Given the description of an element on the screen output the (x, y) to click on. 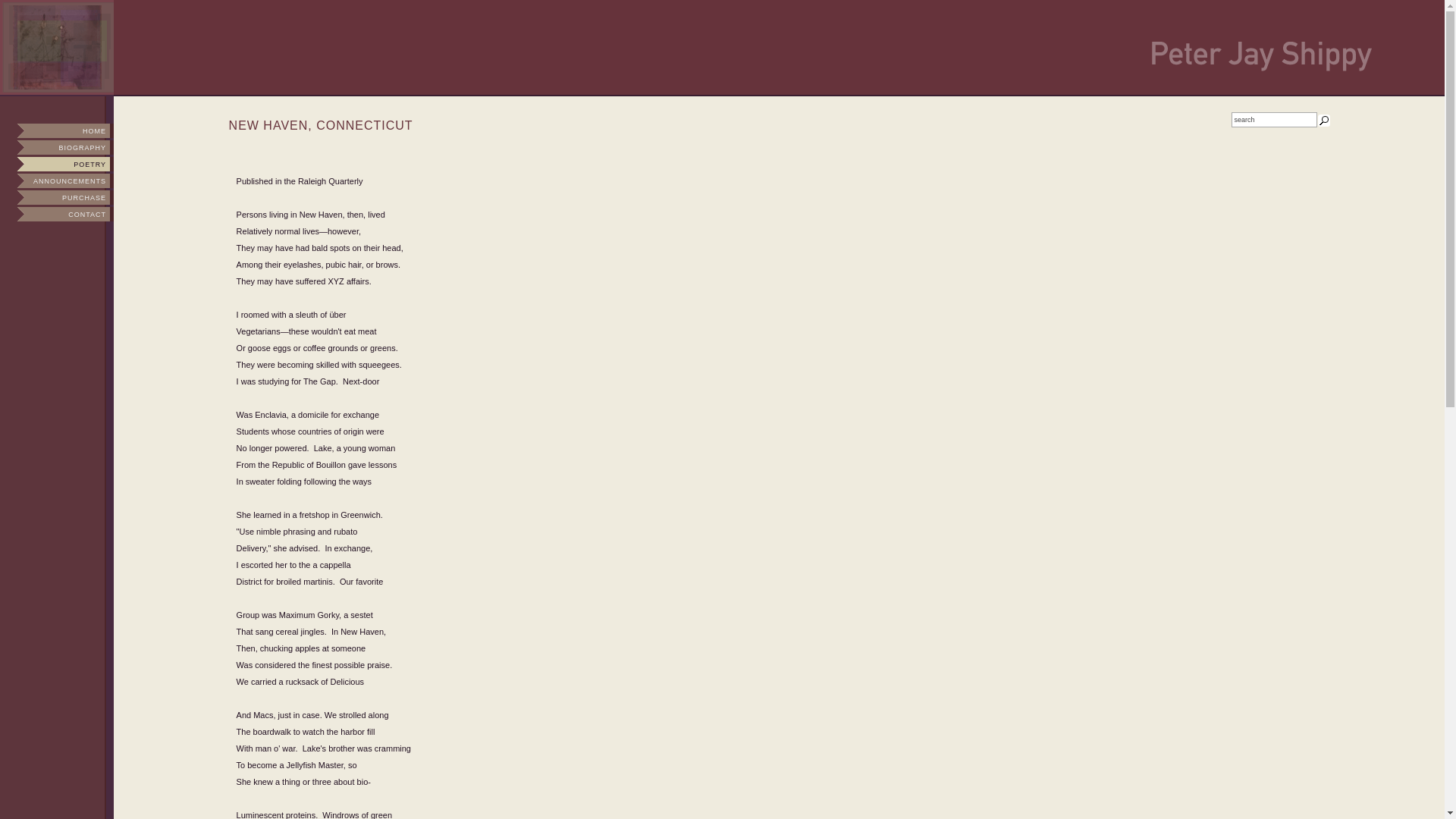
search (1273, 119)
HOME (56, 130)
search (1273, 119)
PURCHASE (56, 197)
BIOGRAPHY (56, 147)
CONTACT (56, 214)
ANNOUNCEMENTS (56, 180)
POETRY (56, 164)
submit (1323, 120)
